Given the description of an element on the screen output the (x, y) to click on. 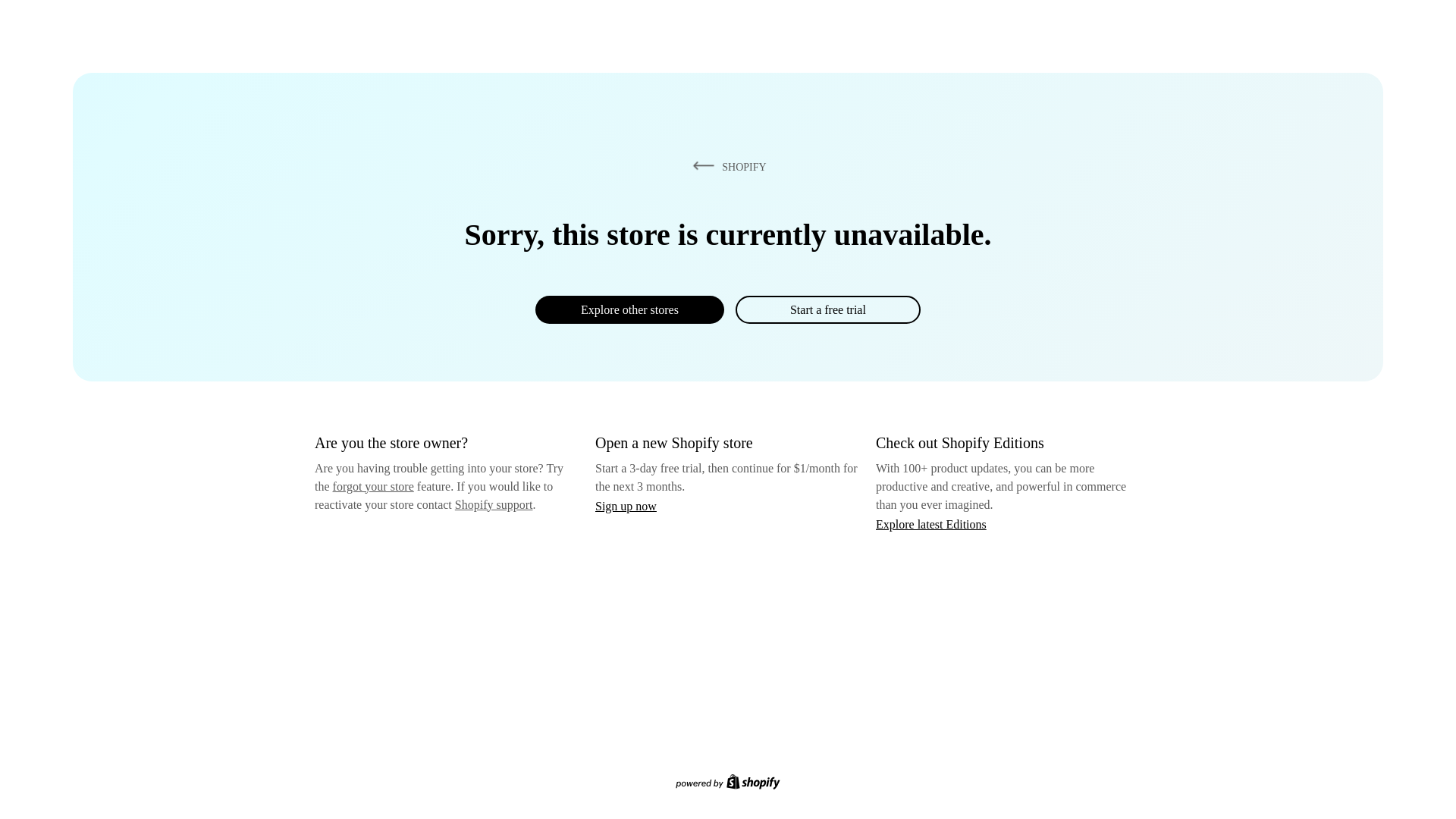
Shopify support (493, 504)
Explore other stores (629, 309)
Sign up now (625, 505)
Start a free trial (827, 309)
SHOPIFY (726, 166)
forgot your store (373, 486)
Explore latest Editions (931, 523)
